Given the description of an element on the screen output the (x, y) to click on. 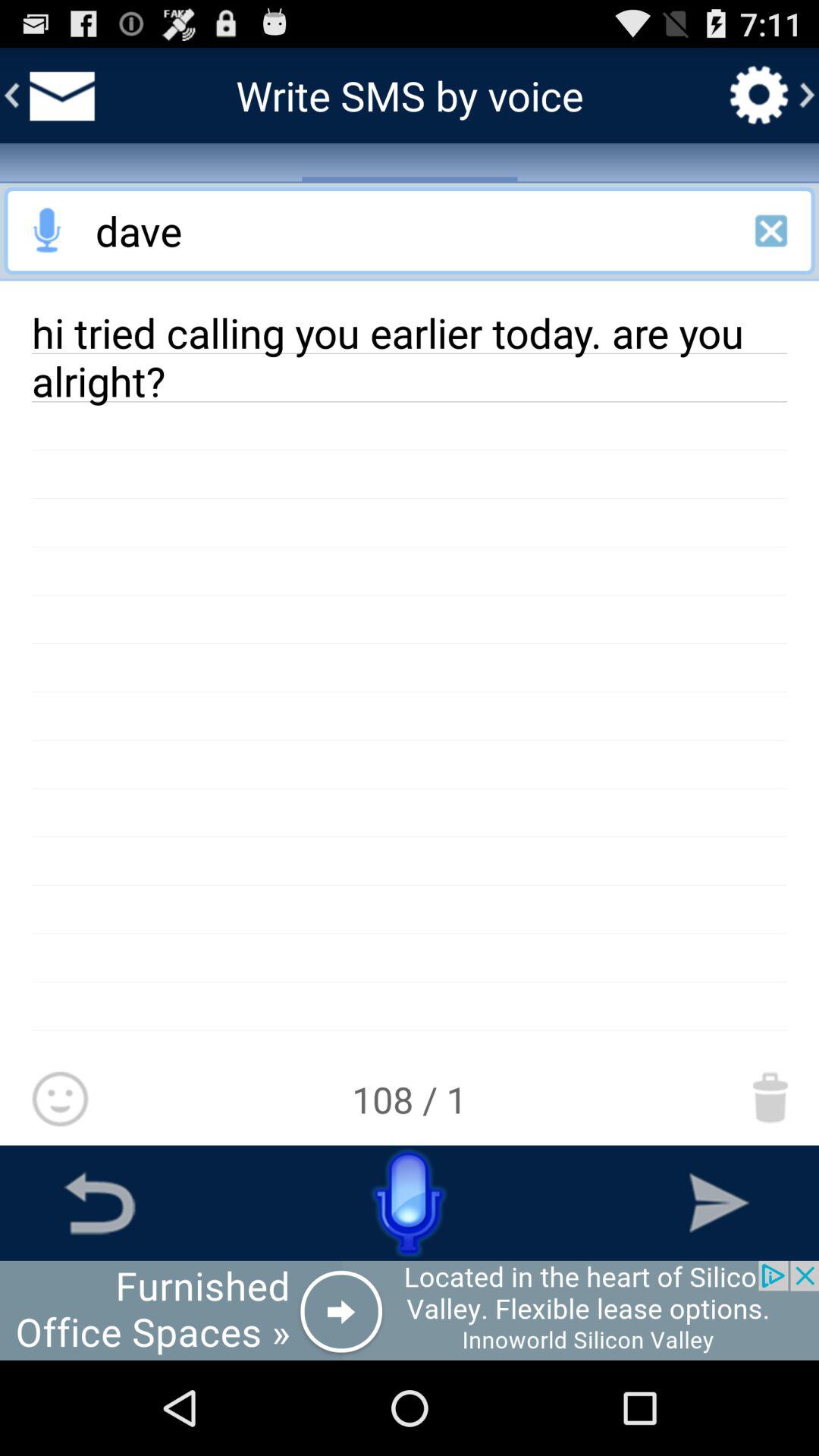
go to advertisement (409, 1310)
